Given the description of an element on the screen output the (x, y) to click on. 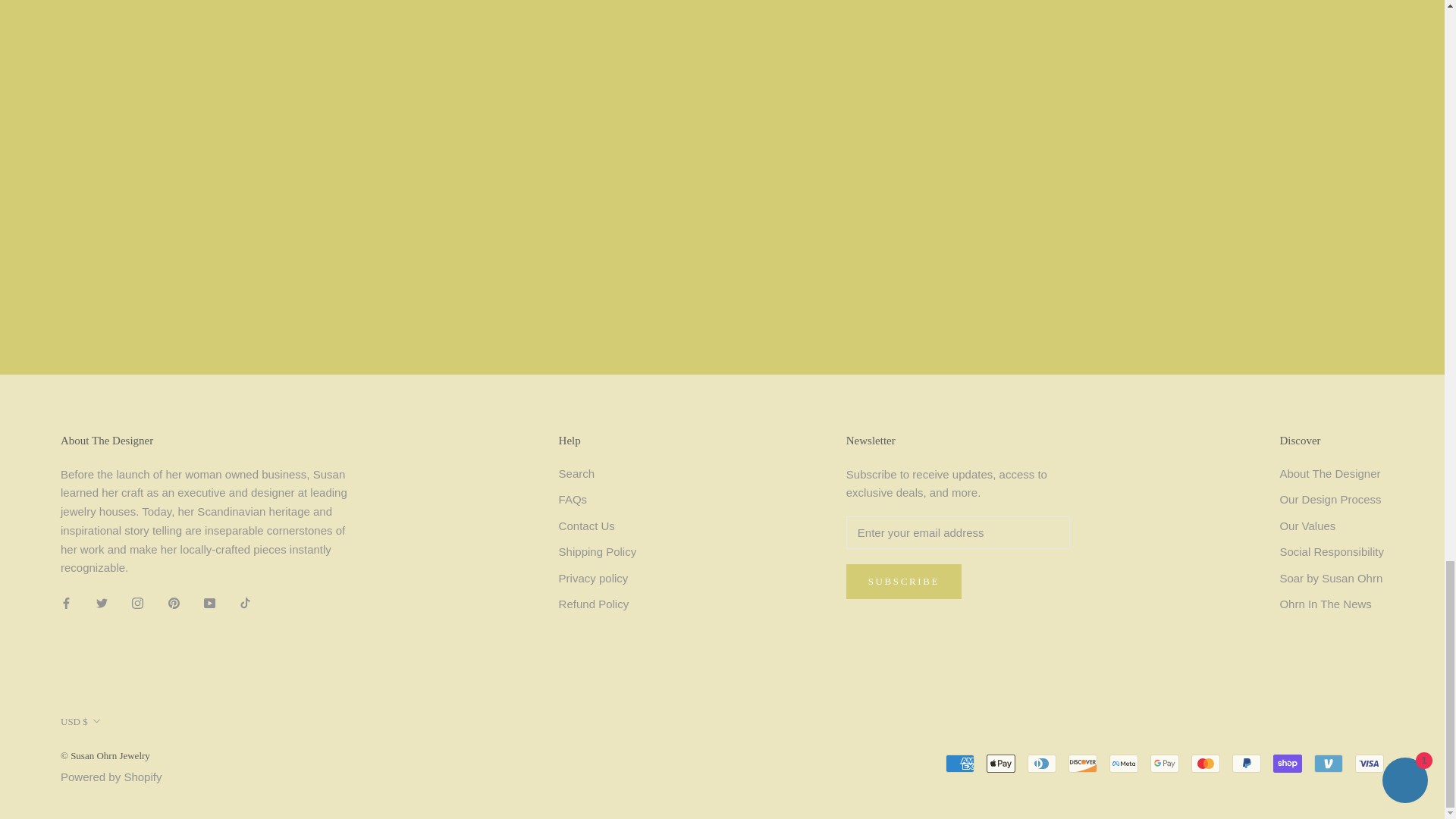
Apple Pay (1000, 763)
Discover (1082, 763)
Diners Club (1042, 763)
PayPal (1245, 763)
American Express (959, 763)
Shop Pay (1286, 763)
Mastercard (1205, 763)
Meta Pay (1123, 763)
Google Pay (1164, 763)
